Given the description of an element on the screen output the (x, y) to click on. 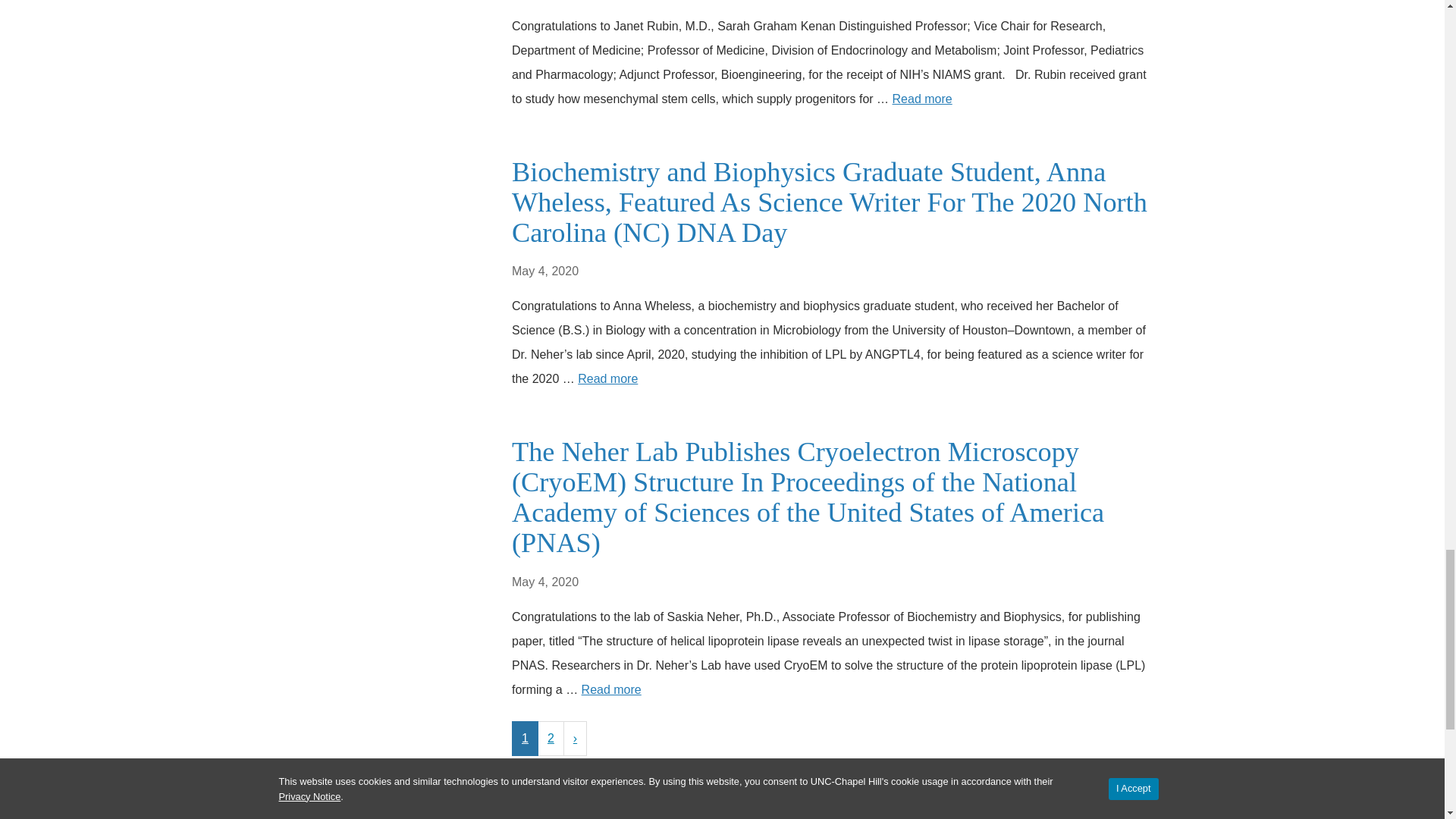
Read more (922, 98)
Read more (607, 378)
